Given the description of an element on the screen output the (x, y) to click on. 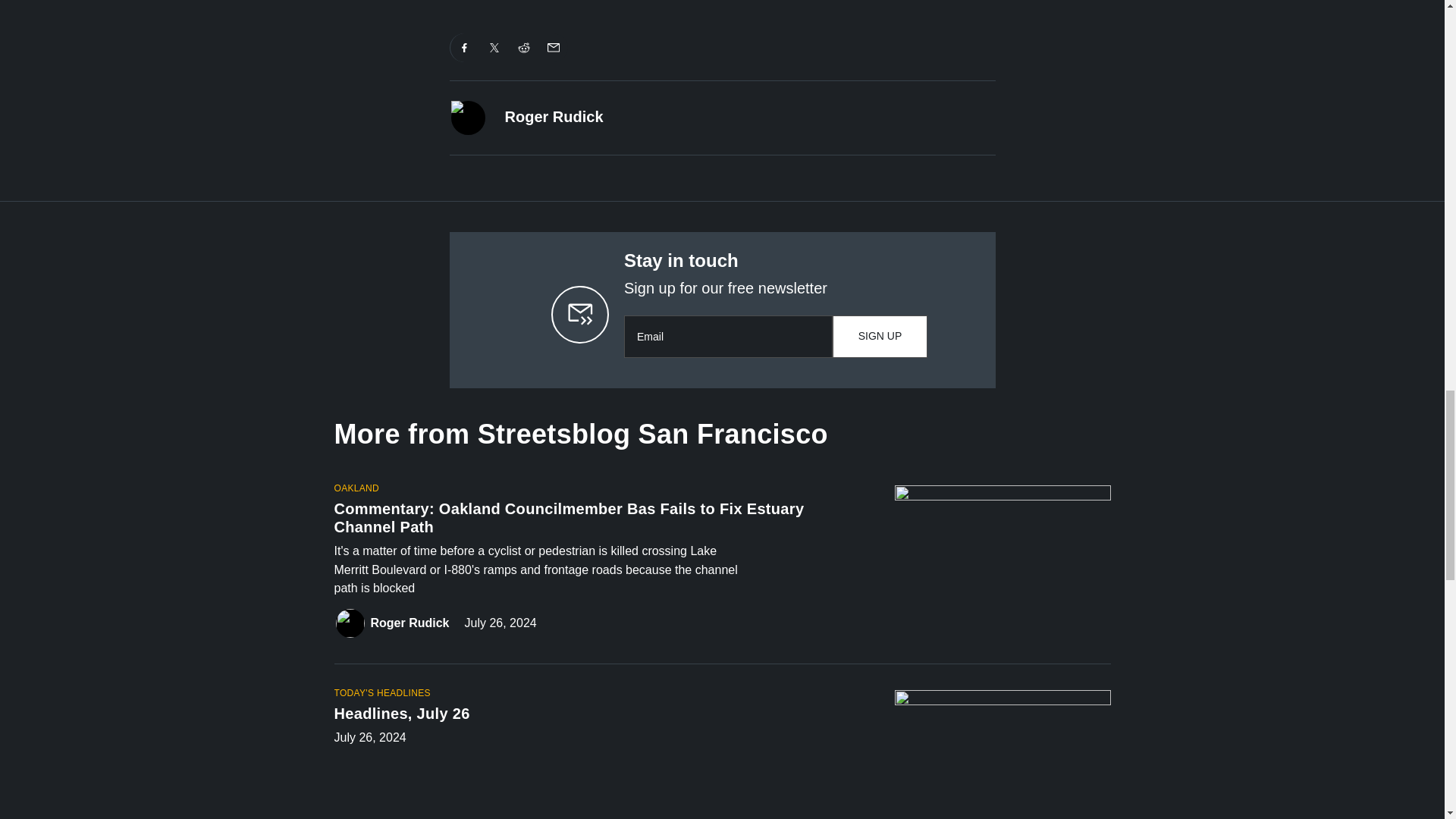
Share on Facebook (464, 47)
Share on Reddit (523, 47)
Share on Email (552, 47)
